Given the description of an element on the screen output the (x, y) to click on. 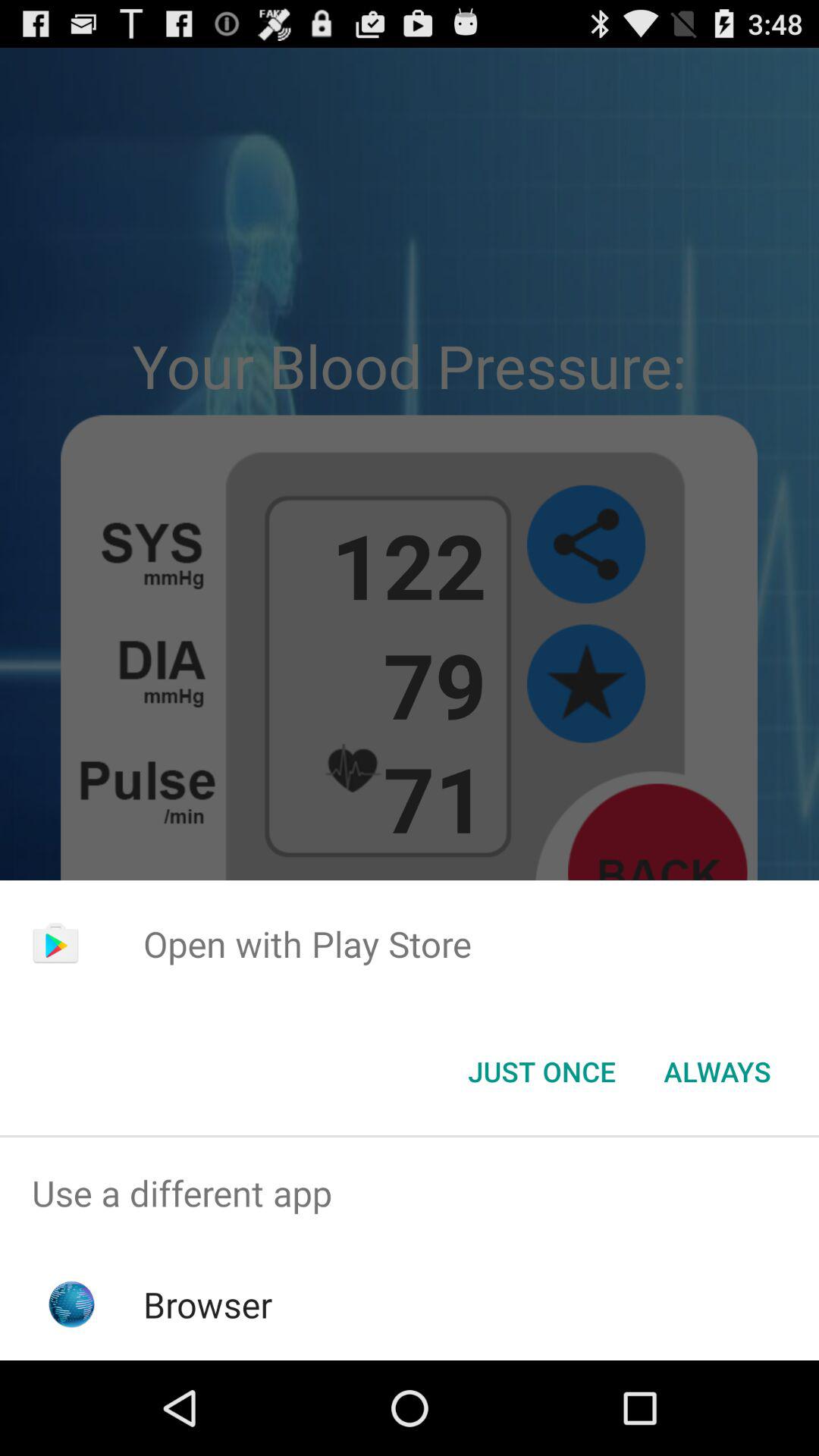
jump until the use a different icon (409, 1192)
